Given the description of an element on the screen output the (x, y) to click on. 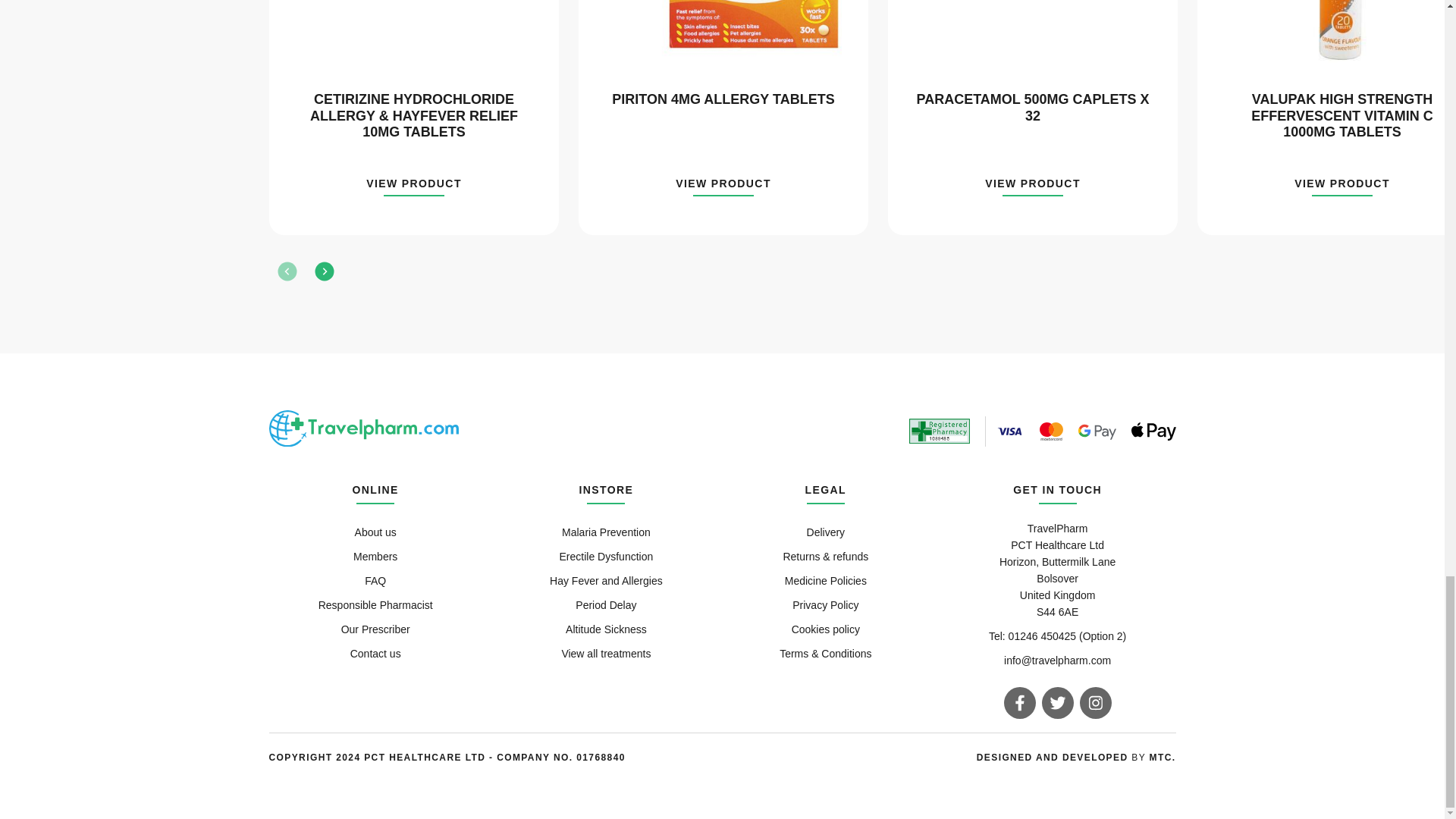
General Pharmaceutical Council (938, 431)
View product (1342, 186)
logo (362, 428)
Opens in a new window (1053, 757)
View product (1032, 186)
Opens in a new window (1163, 757)
View product (414, 186)
View product (723, 186)
